Given the description of an element on the screen output the (x, y) to click on. 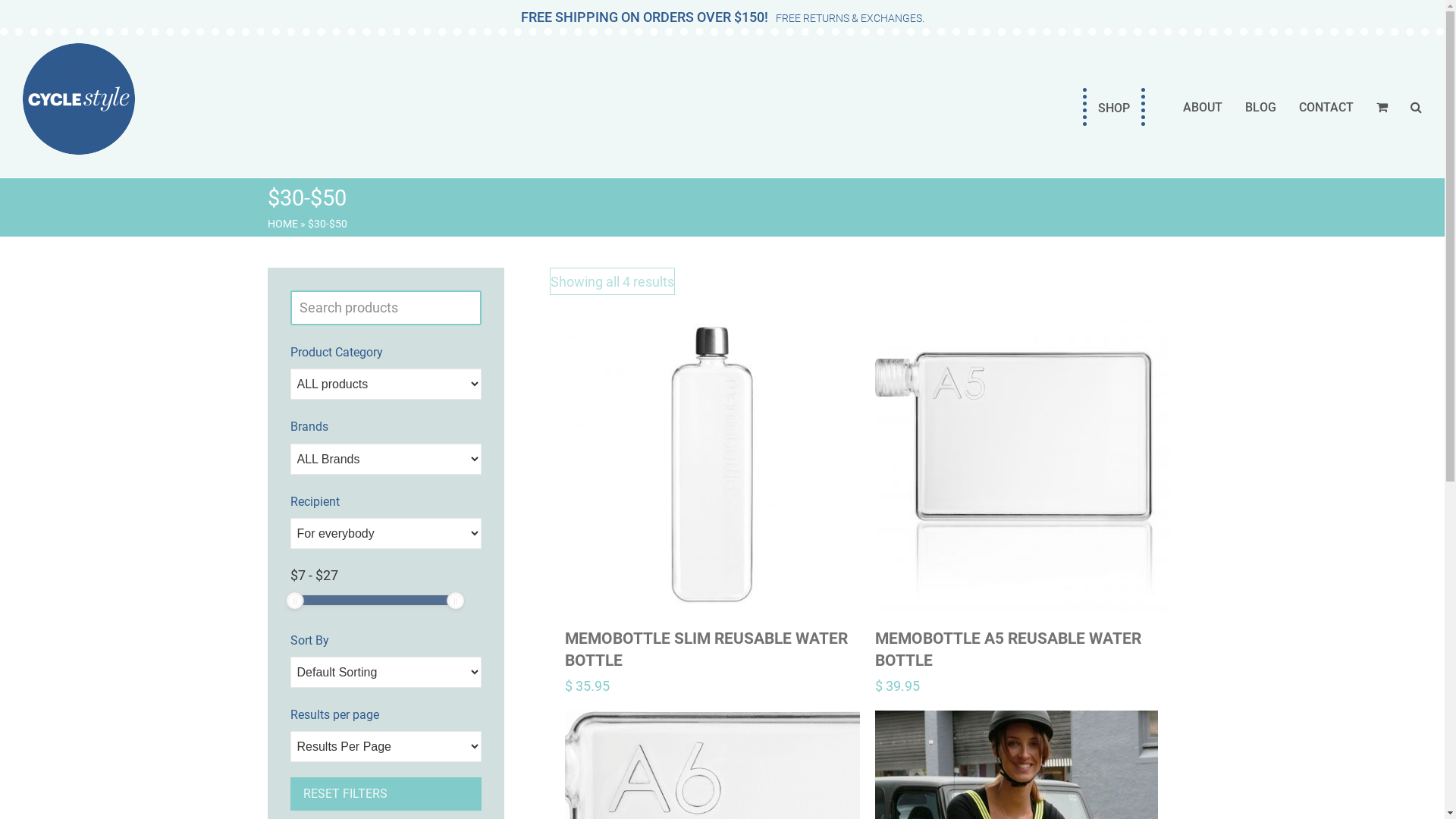
MEMOBOTTLE SLIM REUSABLE WATER BOTTLE Element type: text (711, 649)
Reset Filters Element type: text (384, 793)
ABOUT Element type: text (1202, 106)
SHOP Element type: text (1113, 106)
MEMOBOTTLE A5 REUSABLE WATER BOTTLE Element type: text (1022, 649)
BLOG Element type: text (1260, 106)
CONTACT Element type: text (1326, 106)
HOME Element type: text (281, 223)
